Given the description of an element on the screen output the (x, y) to click on. 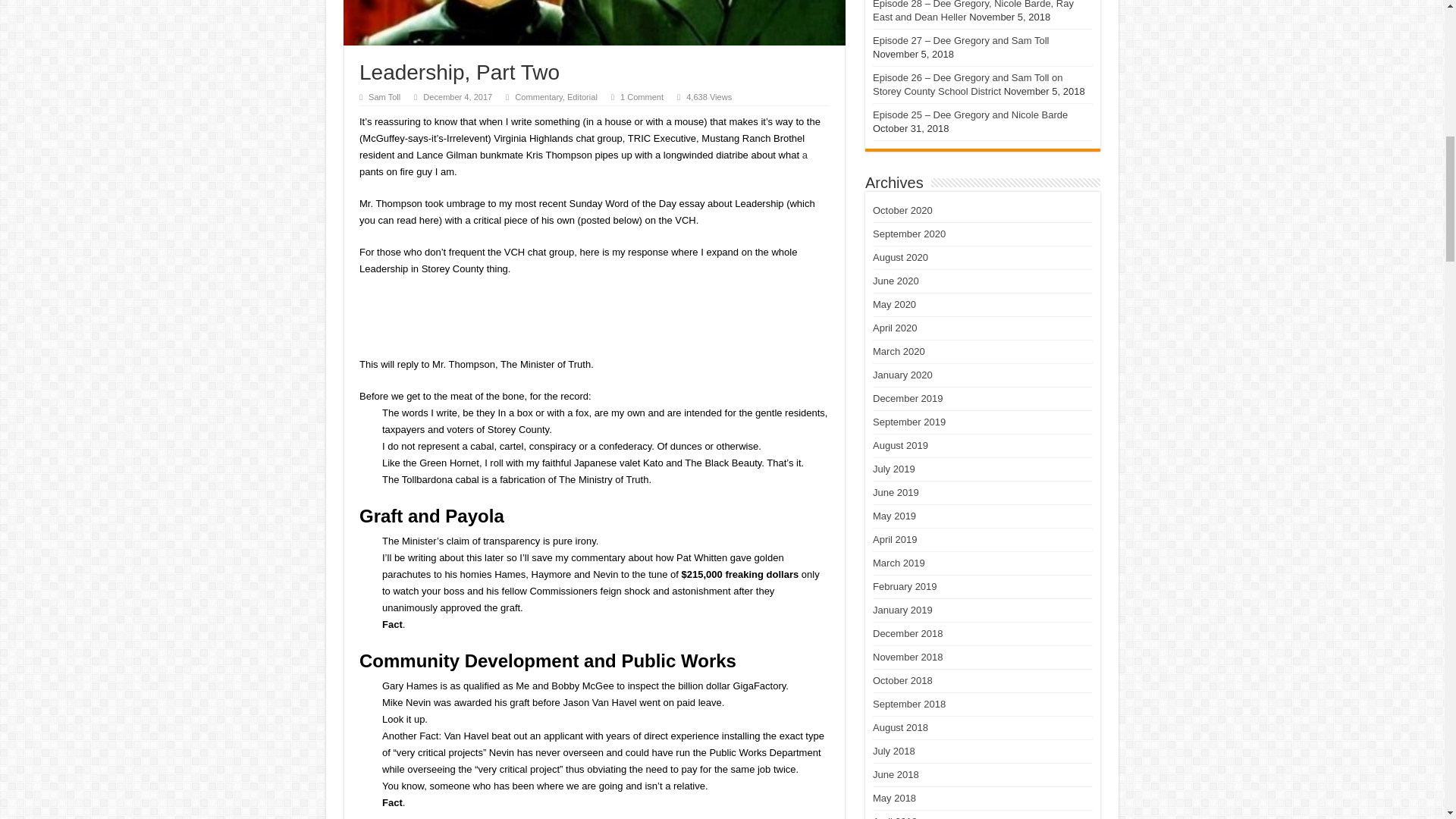
Sam Toll (384, 96)
